Given the description of an element on the screen output the (x, y) to click on. 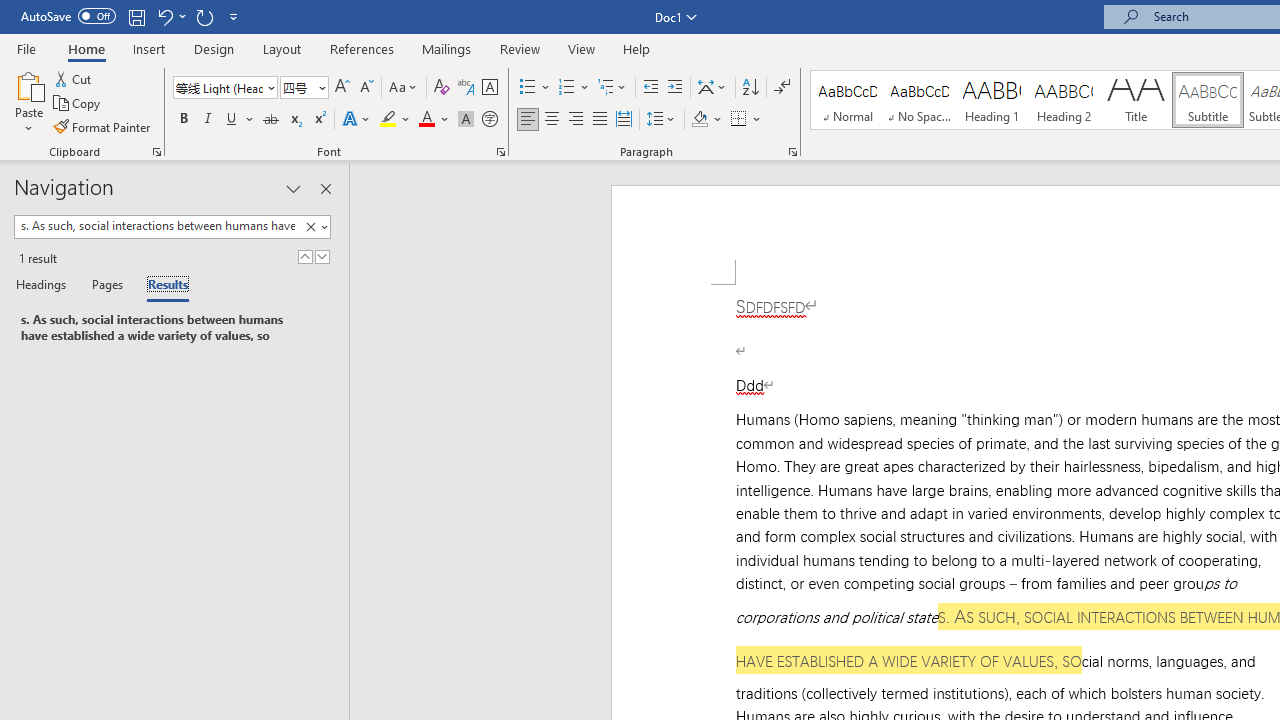
Clear (314, 227)
Undo Style (170, 15)
